Given the description of an element on the screen output the (x, y) to click on. 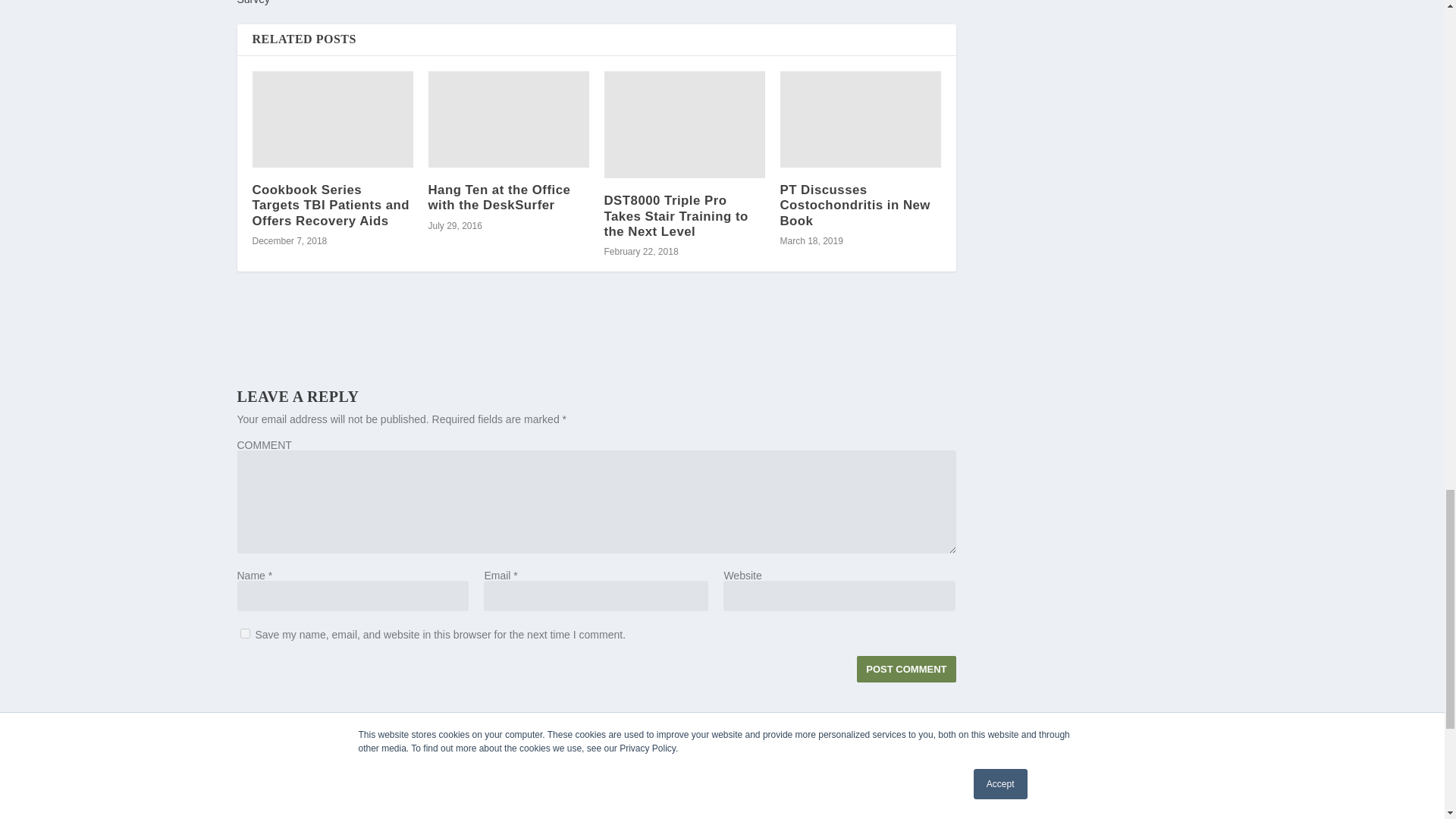
PT Discusses Costochondritis in New Book (859, 119)
DST8000 Triple Pro Takes Stair Training to the Next Level (684, 124)
Post Comment (906, 669)
Hang Ten at the Office with the DeskSurfer (508, 119)
yes (244, 633)
